Given the description of an element on the screen output the (x, y) to click on. 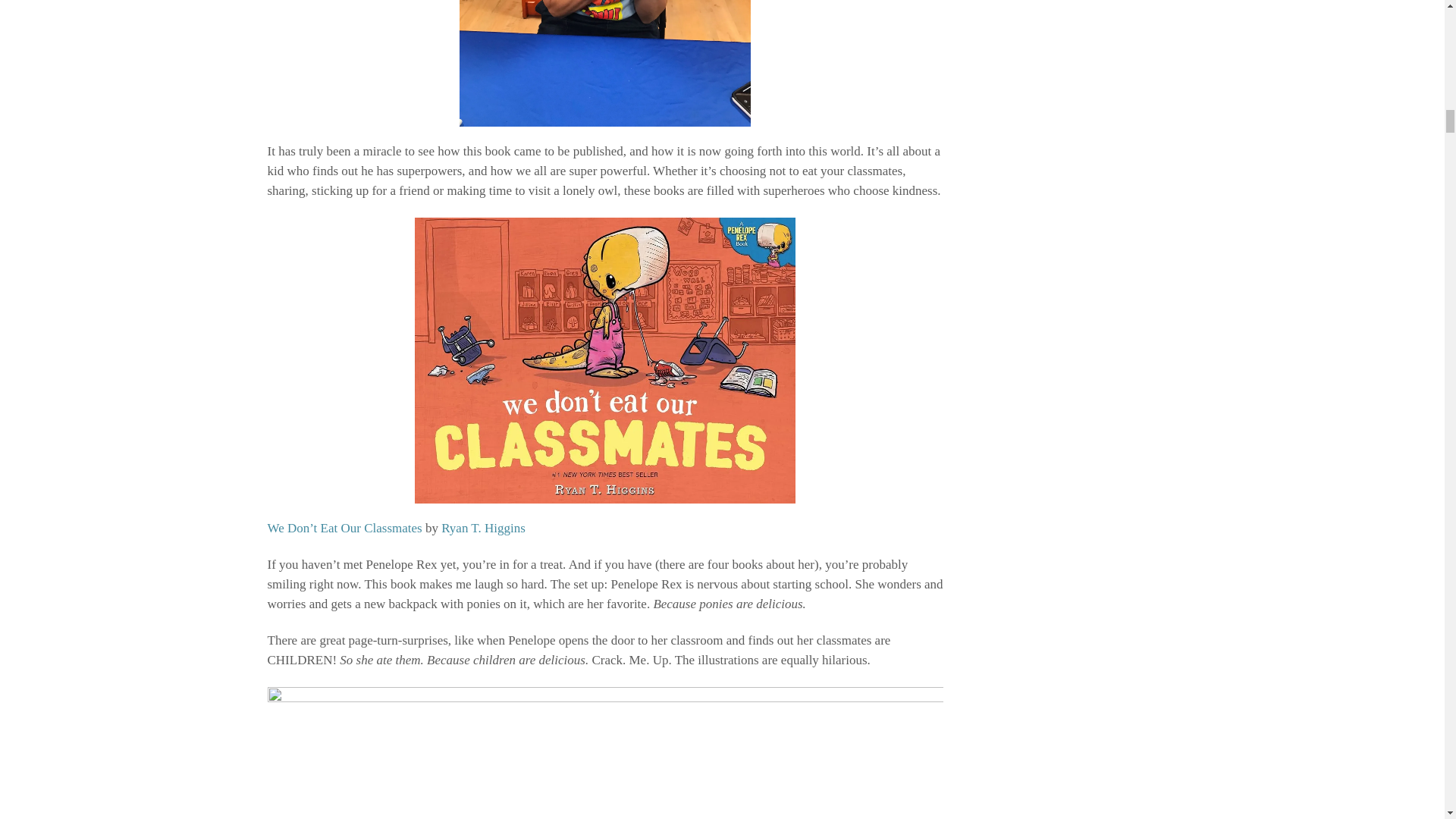
Ryan T. Higgins (483, 527)
